Given the description of an element on the screen output the (x, y) to click on. 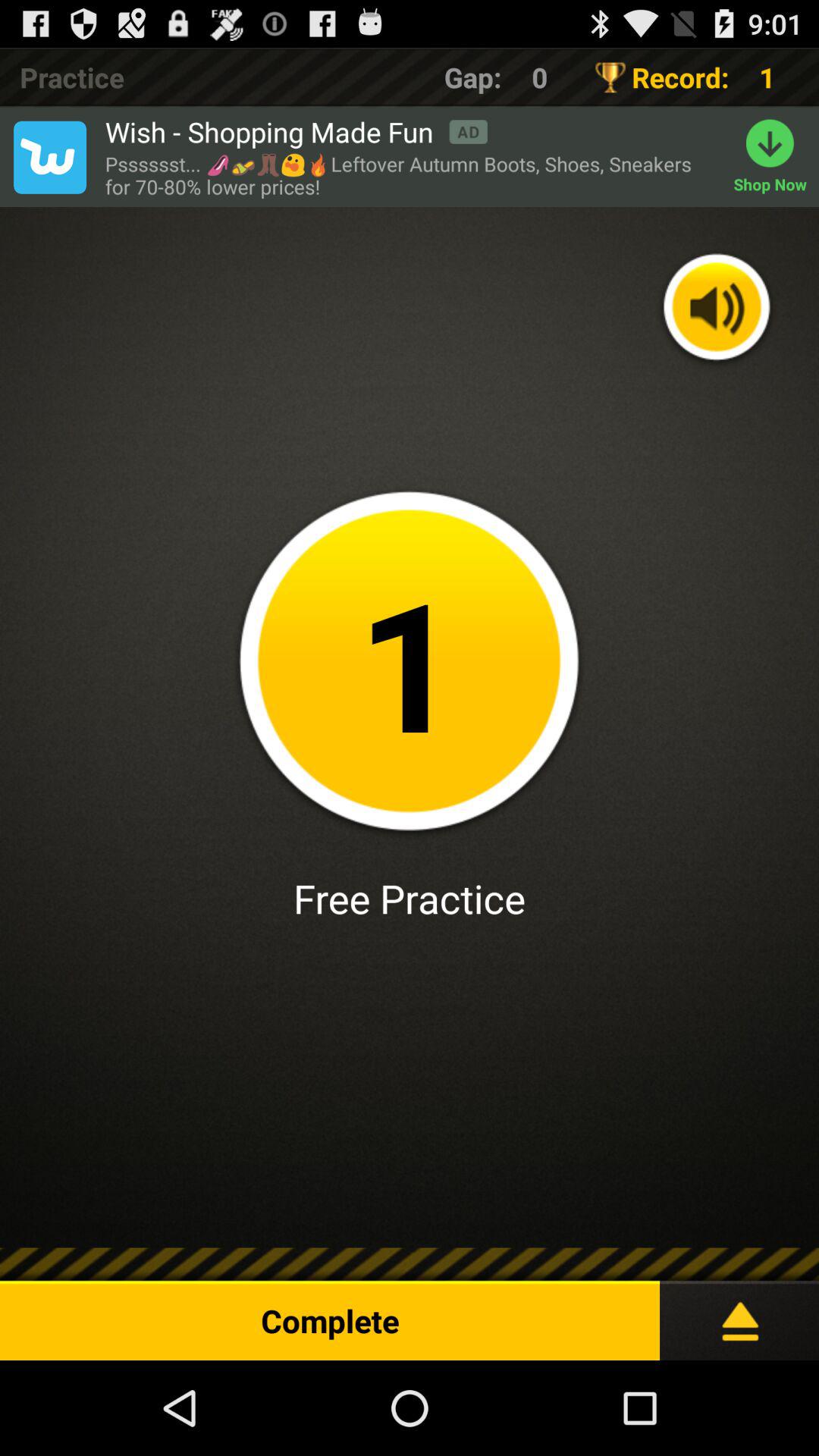
logo (49, 156)
